Given the description of an element on the screen output the (x, y) to click on. 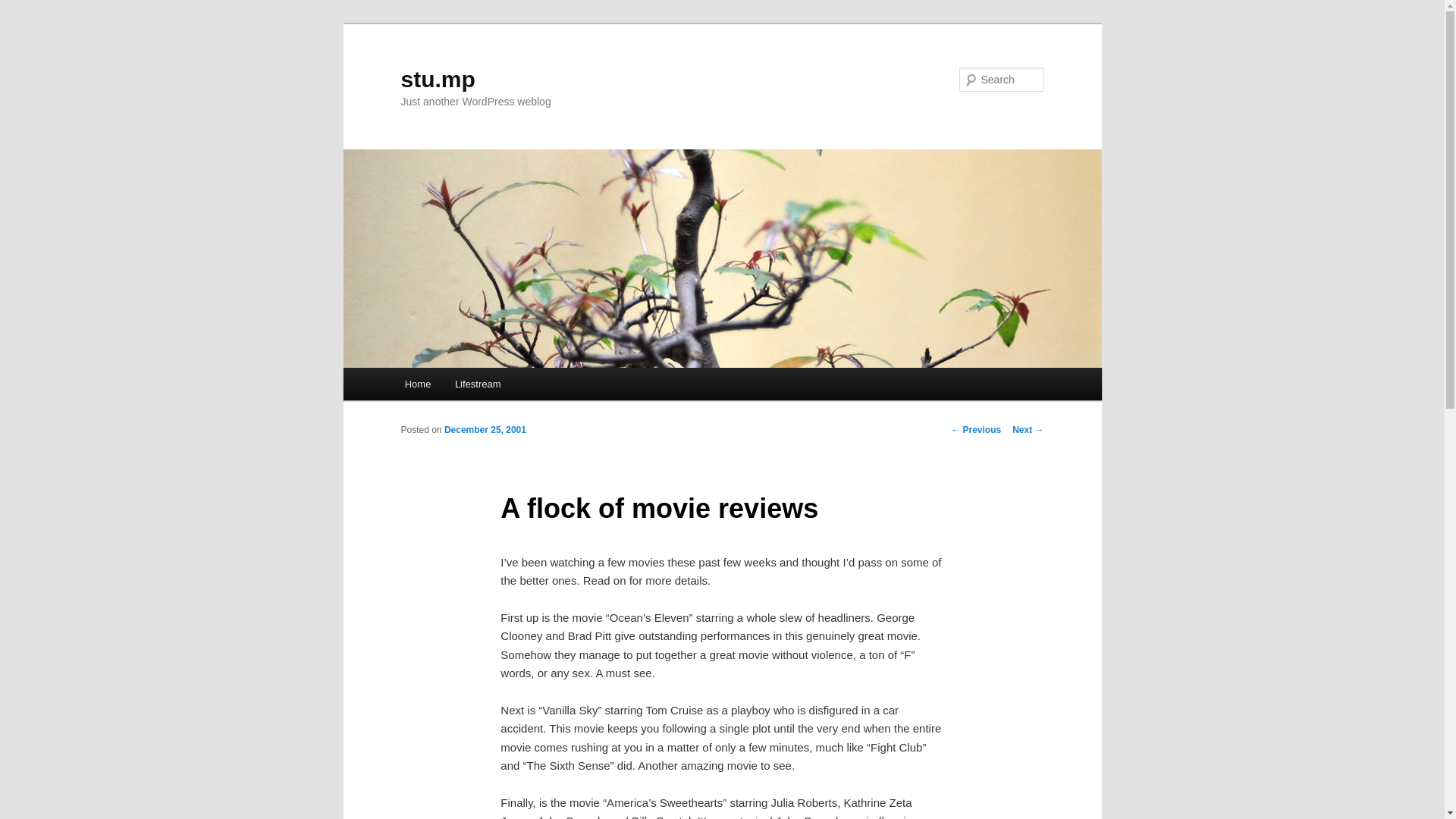
Lifestream (477, 383)
4:01 am (484, 429)
Search (24, 8)
December 25, 2001 (484, 429)
stu.mp (437, 78)
Home (417, 383)
